Given the description of an element on the screen output the (x, y) to click on. 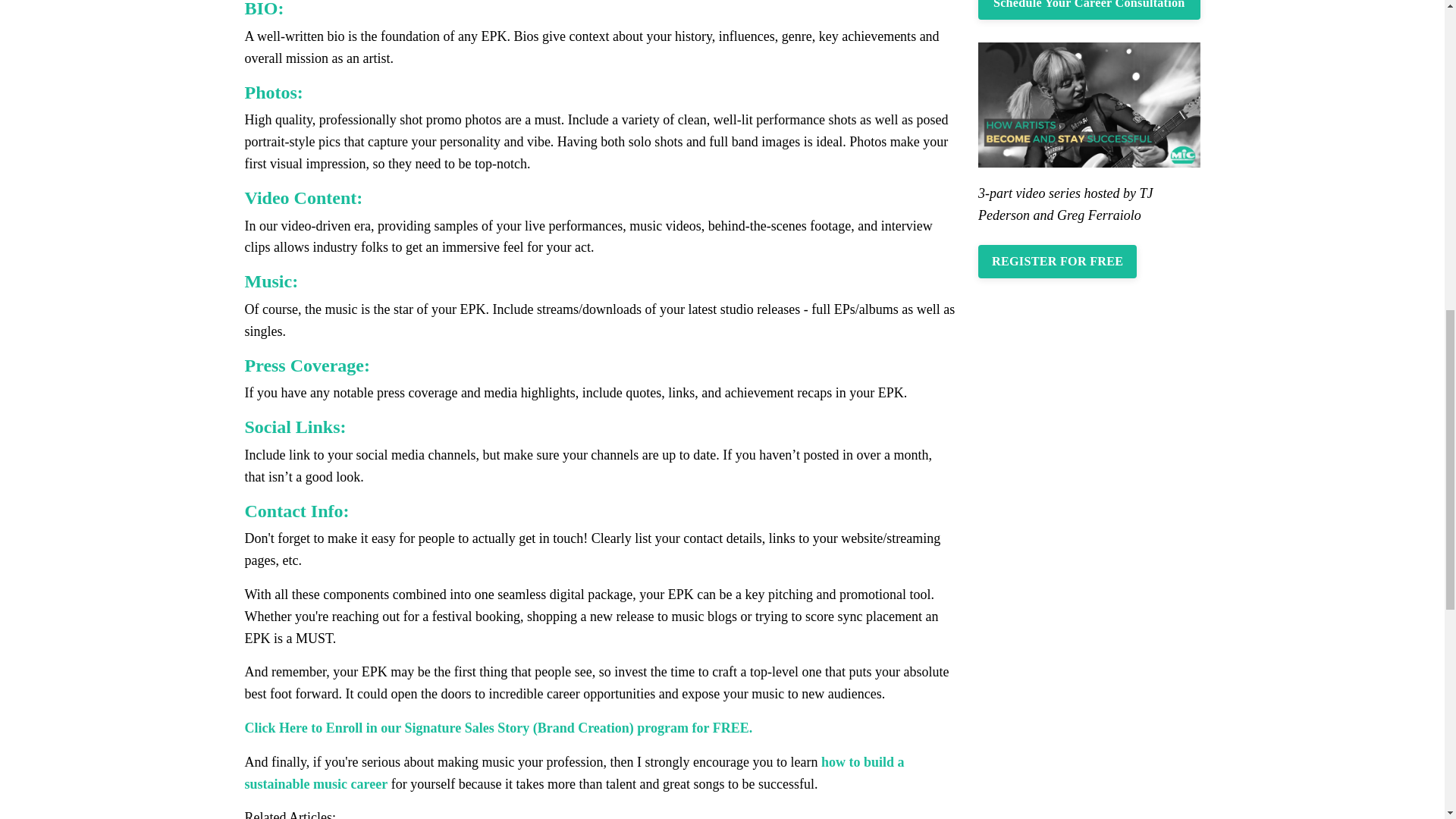
how to build a sustainable music career (574, 772)
REGISTER FOR FREE (1057, 261)
Schedule Your Career Consultation (1088, 9)
how to build a sustainable music career (574, 772)
